Given the description of an element on the screen output the (x, y) to click on. 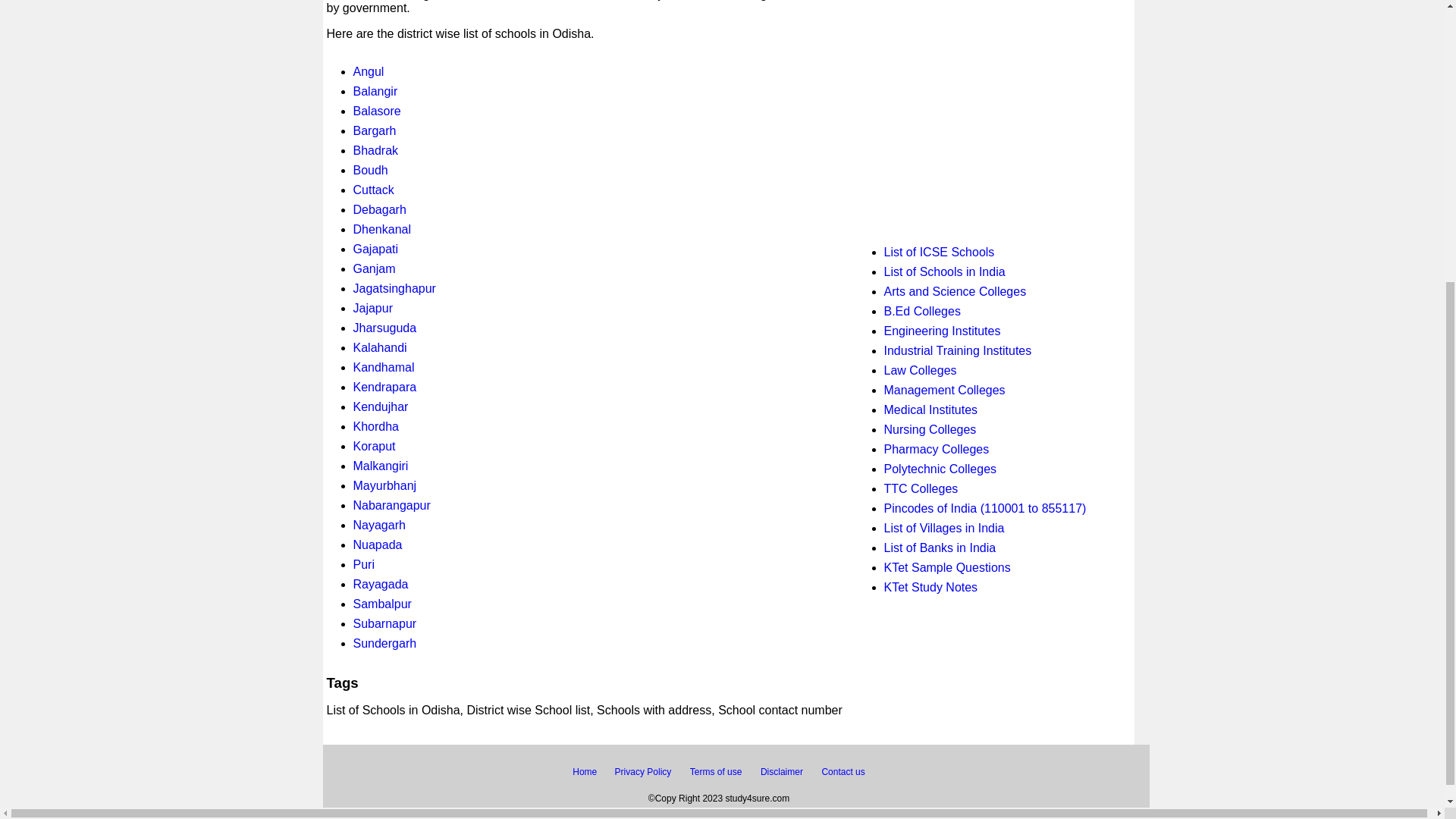
Bargarh (374, 130)
Jajapur (373, 308)
Nayagarh (379, 524)
Arts and Science Colleges (954, 291)
Ganjam (374, 268)
Mayurbhanj (384, 485)
Jharsuguda (384, 327)
Nuapada (378, 544)
Kendrapara (384, 386)
List of ICSE Schools (938, 251)
